Given the description of an element on the screen output the (x, y) to click on. 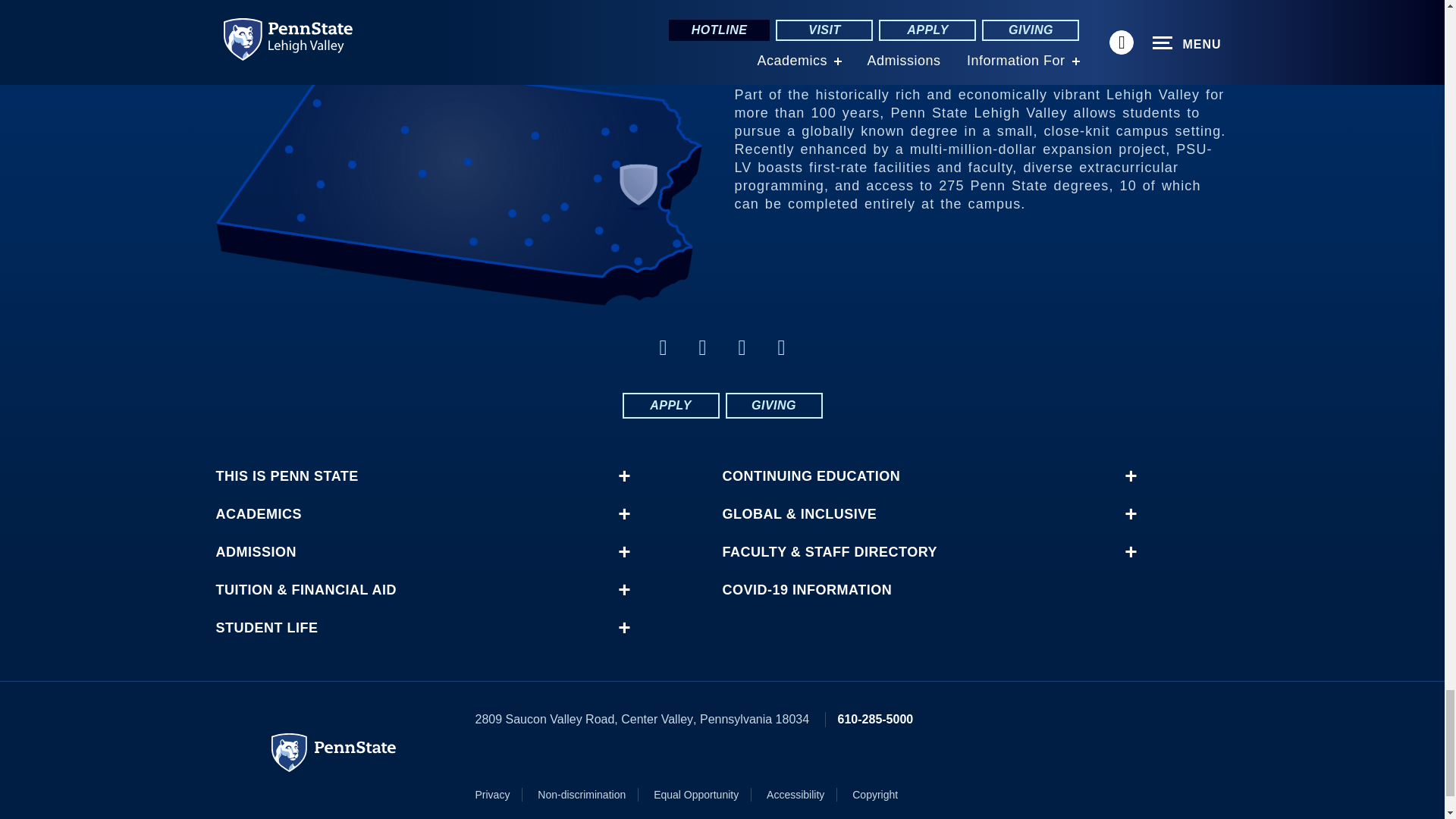
Penn State University (333, 753)
linkedin (741, 347)
instagram (702, 347)
facebook (662, 347)
youtube (781, 347)
